Given the description of an element on the screen output the (x, y) to click on. 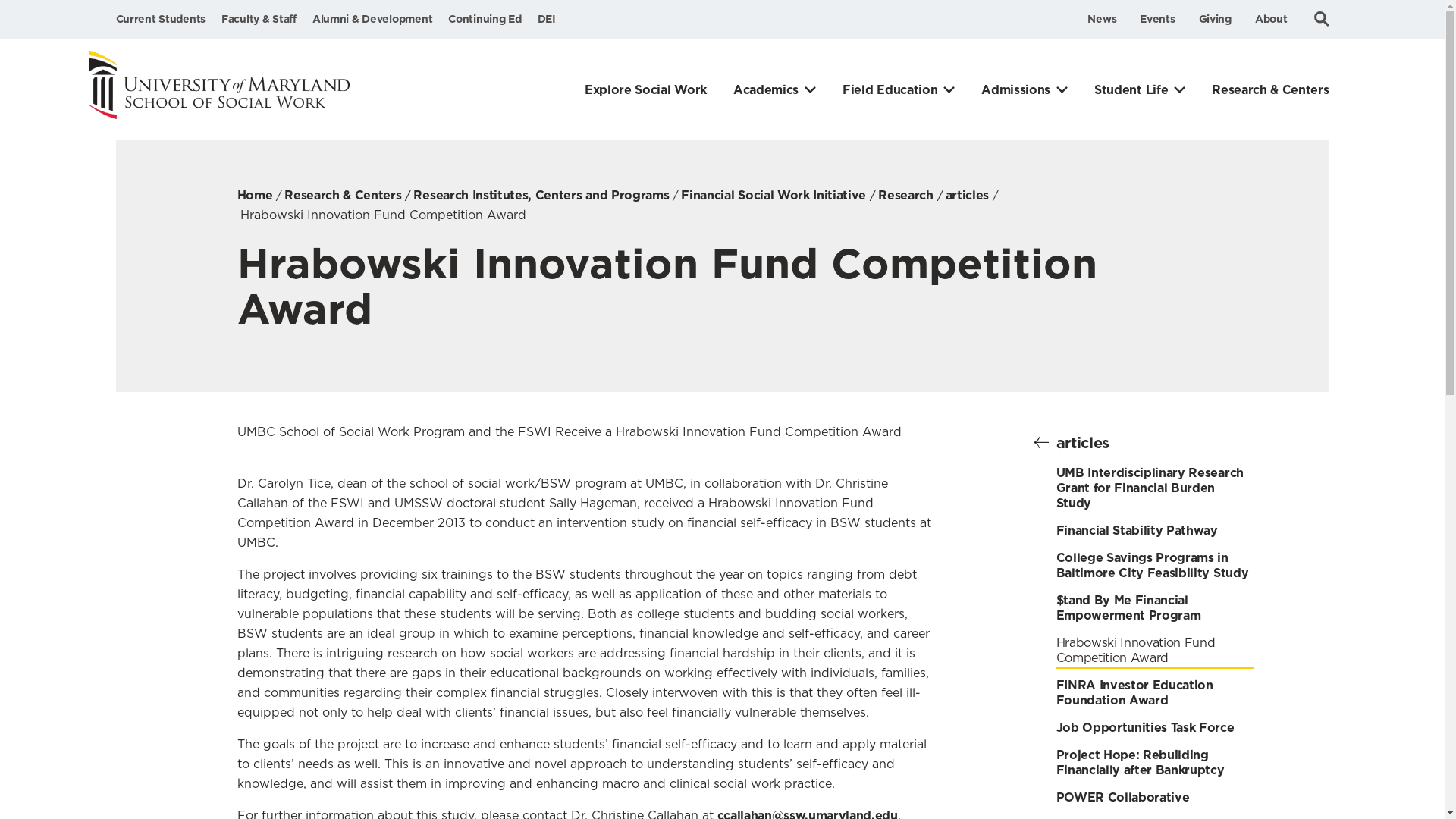
Field Education (899, 89)
Admissions (1024, 89)
About (1271, 19)
DEI (546, 19)
Giving (1214, 19)
Events (1157, 19)
Continuing Ed (484, 19)
News (1101, 19)
Explore Social Work (645, 89)
Academics (774, 89)
Current Students (160, 19)
Search (1320, 18)
